Given the description of an element on the screen output the (x, y) to click on. 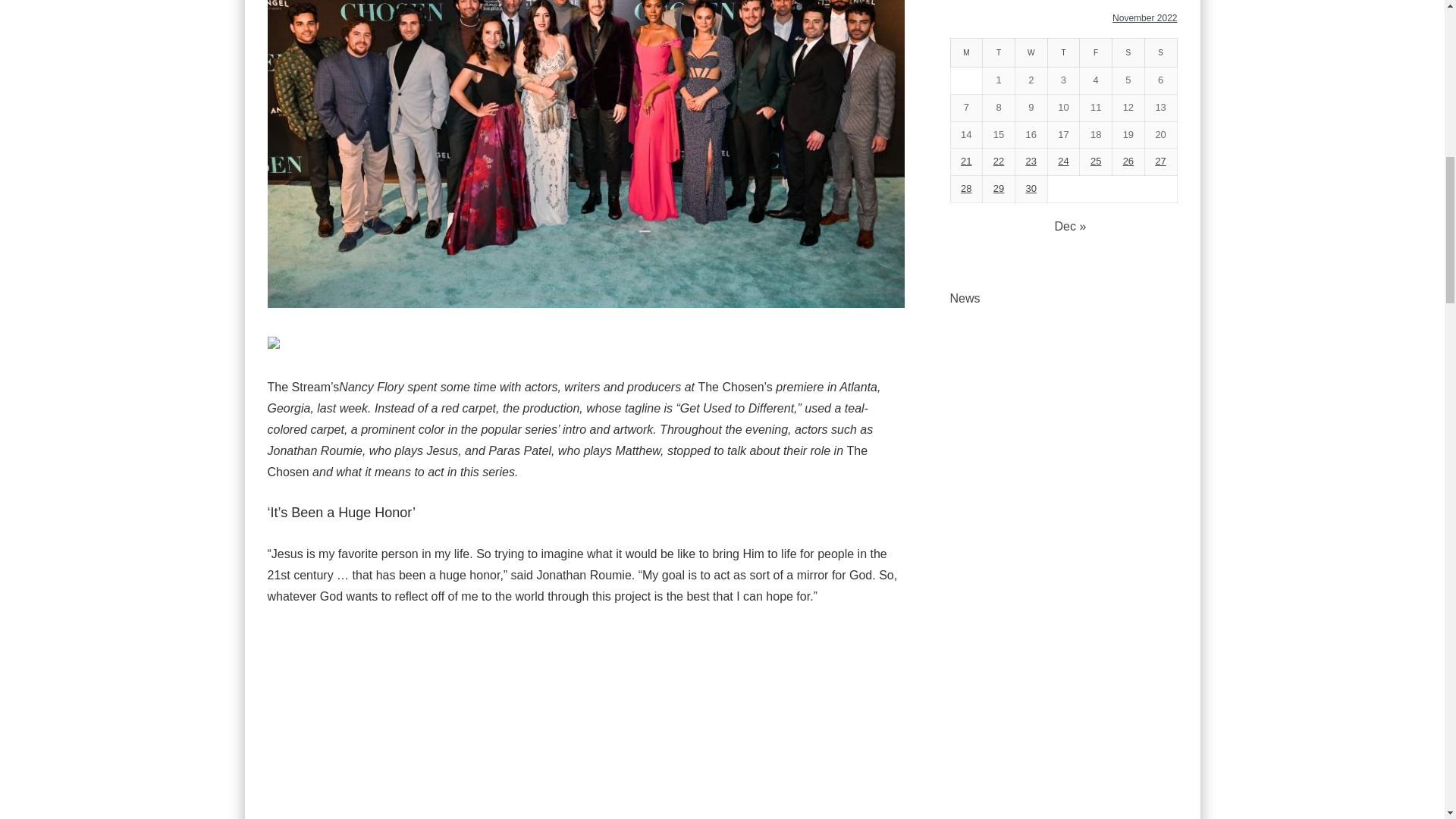
25 (1095, 161)
24 (1063, 161)
Saturday (1128, 52)
28 (965, 188)
21 (965, 161)
Friday (1096, 52)
26 (1128, 161)
Wednesday (1030, 52)
Thursday (1063, 52)
23 (1031, 161)
27 (1160, 161)
Tuesday (998, 52)
22 (998, 161)
Sunday (1160, 52)
Monday (966, 52)
